Given the description of an element on the screen output the (x, y) to click on. 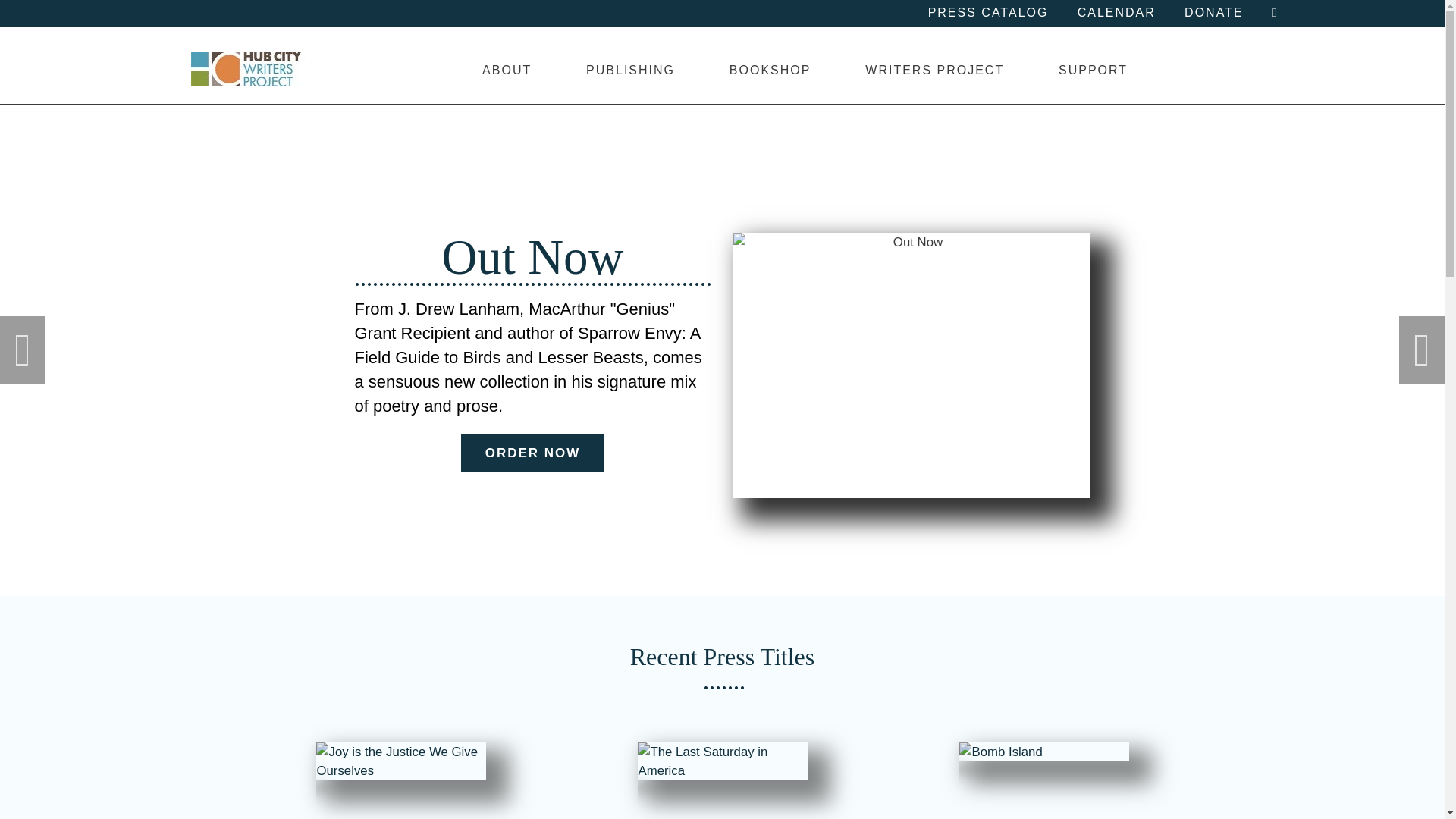
PUBLISHING (630, 70)
ORDER NOW (532, 453)
PRESS CATALOG (988, 13)
SUPPORT (1092, 70)
DONATE (1213, 13)
BOOKSHOP (769, 70)
CALENDAR (1116, 13)
WRITERS PROJECT (934, 70)
Hub City Writers Project (247, 68)
ABOUT (506, 70)
VIEW CART (1274, 13)
